Given the description of an element on the screen output the (x, y) to click on. 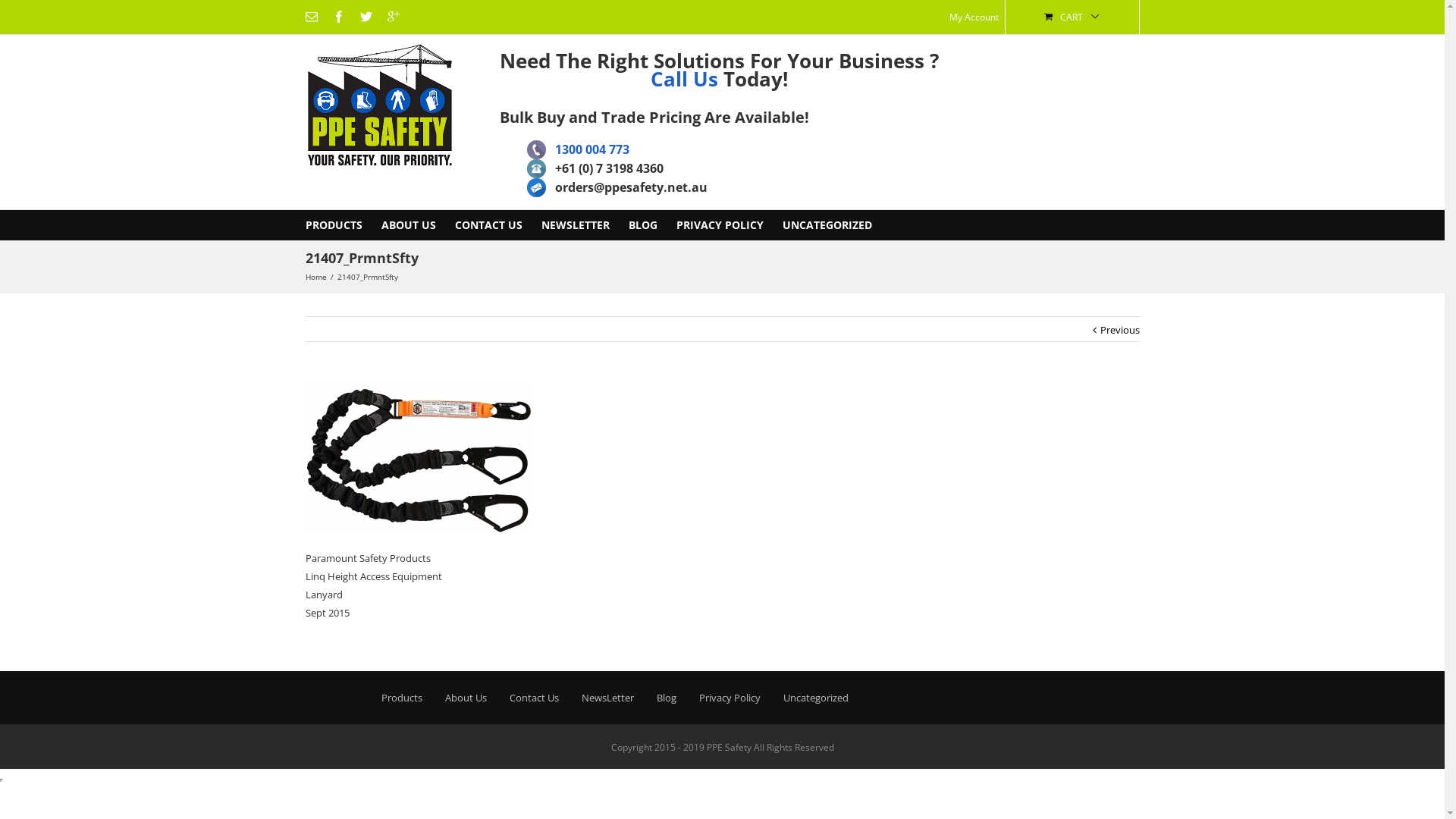
CART Element type: text (1072, 17)
Products Element type: text (400, 697)
Contact Us Element type: text (533, 697)
My Account Element type: text (973, 16)
CONTACT US Element type: text (488, 225)
NEWSLETTER Element type: text (575, 225)
Previous Element type: text (1119, 329)
Mail Element type: hover (310, 16)
Home Element type: text (316, 276)
Google+ Element type: hover (392, 16)
Privacy Policy Element type: text (729, 697)
Twitter Element type: hover (365, 16)
Facebook Element type: hover (338, 16)
PRODUCTS Element type: text (332, 225)
About Us Element type: text (465, 697)
Blog Element type: text (666, 697)
BLOG Element type: text (641, 225)
UNCATEGORIZED Element type: text (827, 225)
Uncategorized Element type: text (814, 697)
PRIVACY POLICY Element type: text (719, 225)
NewsLetter Element type: text (606, 697)
Log In Element type: text (1036, 124)
ABOUT US Element type: text (407, 225)
